Given the description of an element on the screen output the (x, y) to click on. 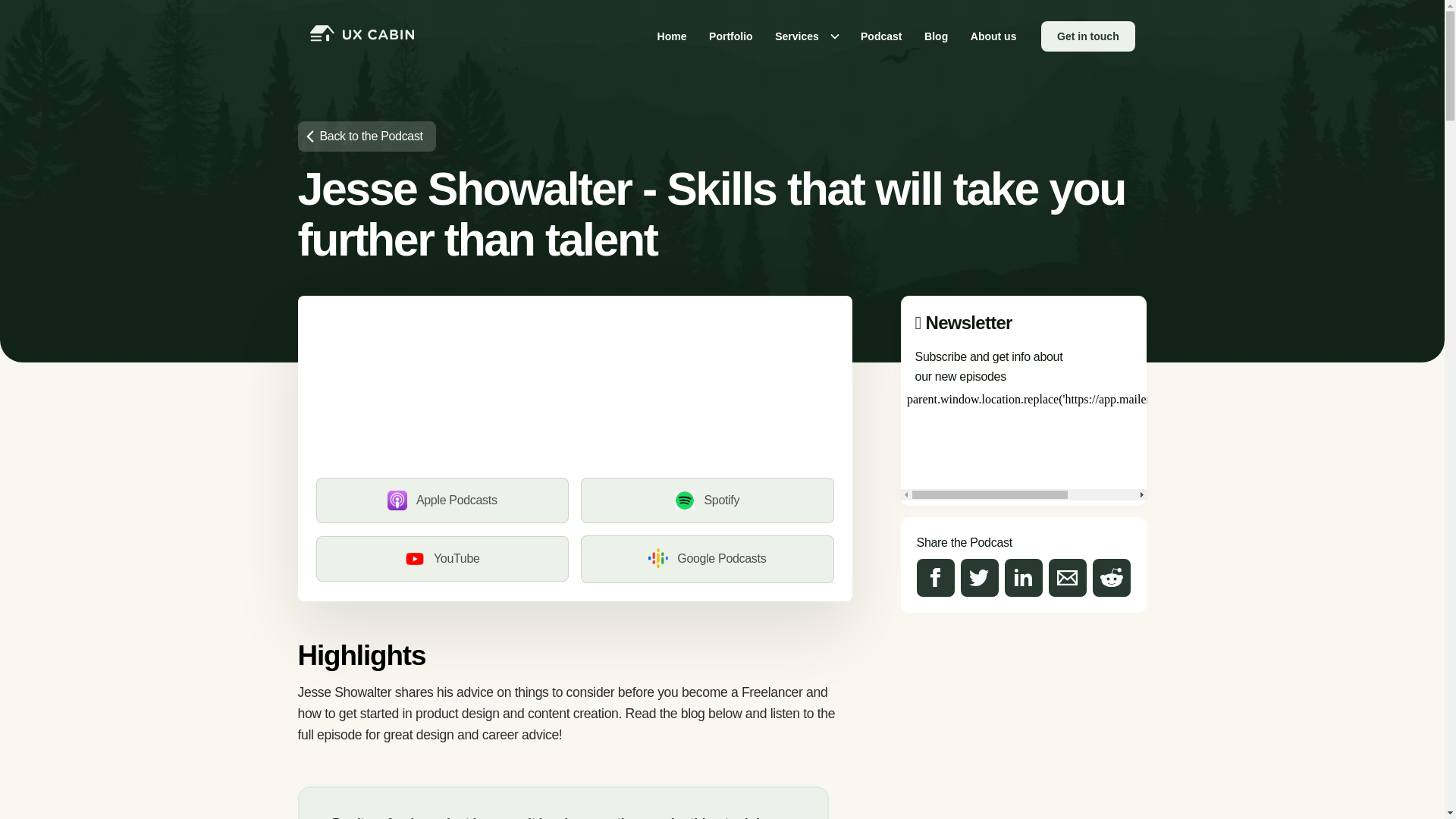
Spotify (707, 500)
About us (993, 36)
Get in touch (1087, 36)
Apple Podcasts (442, 500)
Google Podcasts (707, 559)
Podcast (880, 36)
Email (1067, 577)
landing.mailerlite.com (1024, 443)
Back to the Podcast (366, 136)
www.buzzsprout.com (573, 389)
YouTube (442, 558)
Portfolio (729, 36)
Share on LinkedIn (1023, 577)
Share on Facebook (936, 577)
Home (672, 36)
